Given the description of an element on the screen output the (x, y) to click on. 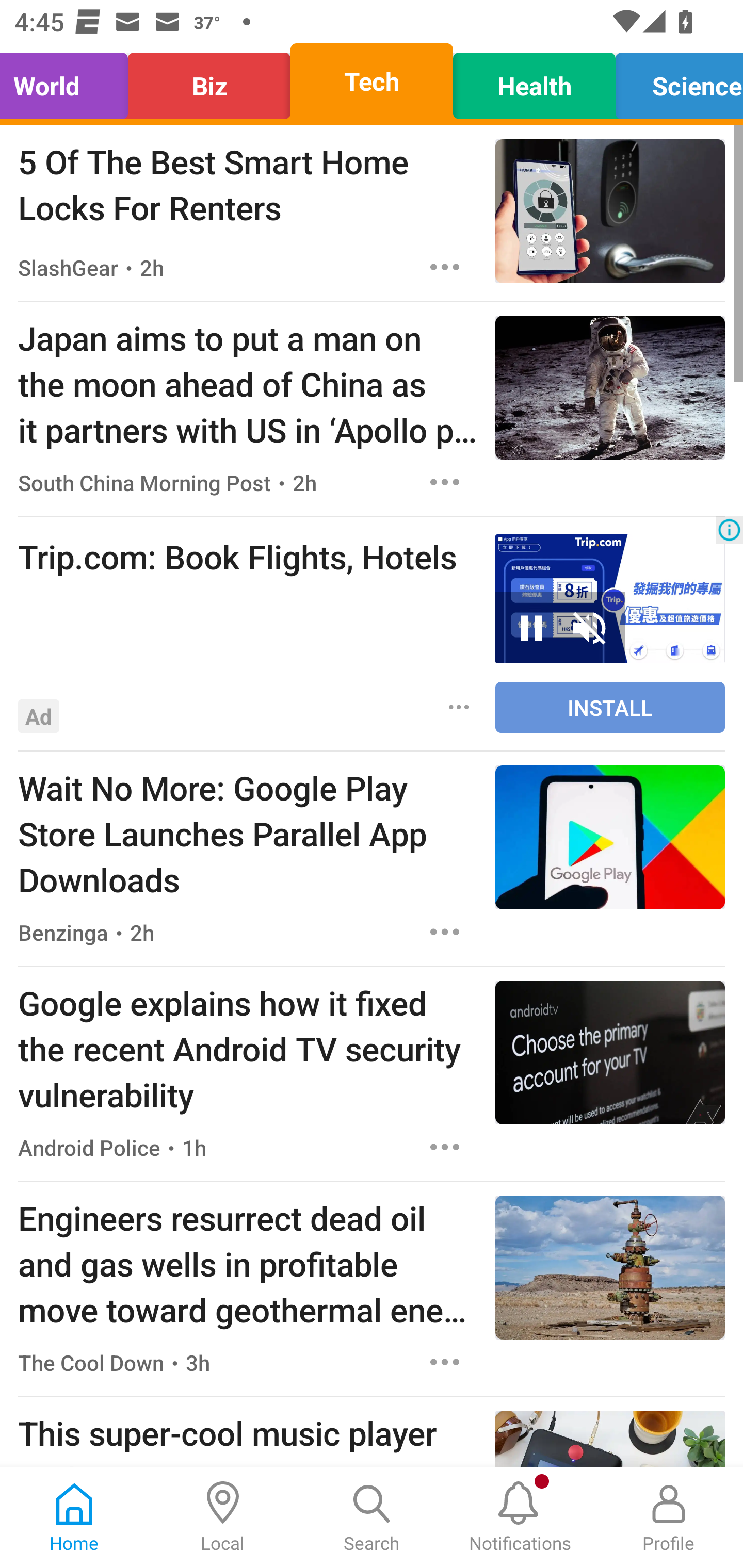
World (69, 81)
Biz (209, 81)
Tech (371, 81)
Health (534, 81)
Science (673, 81)
Options (444, 267)
Options (444, 481)
Ad Choices Icon (729, 529)
Trip.com: Book Flights, Hotels (247, 556)
INSTALL (610, 707)
Options (459, 706)
Options (444, 932)
Options (444, 1146)
Options (444, 1362)
Local (222, 1517)
Search (371, 1517)
Notifications, New notification Notifications (519, 1517)
Profile (668, 1517)
